Given the description of an element on the screen output the (x, y) to click on. 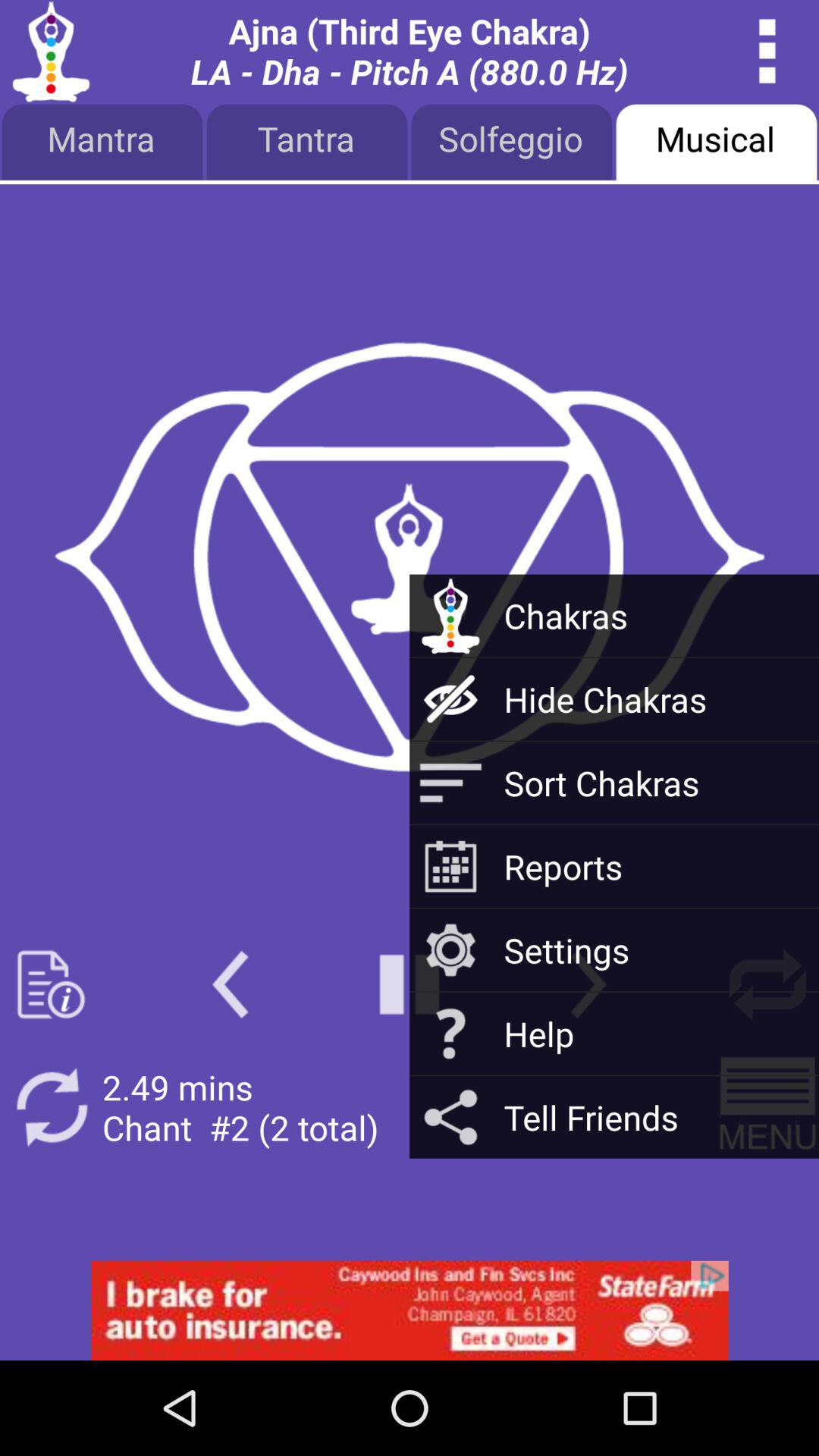
go to menu (767, 1107)
